Given the description of an element on the screen output the (x, y) to click on. 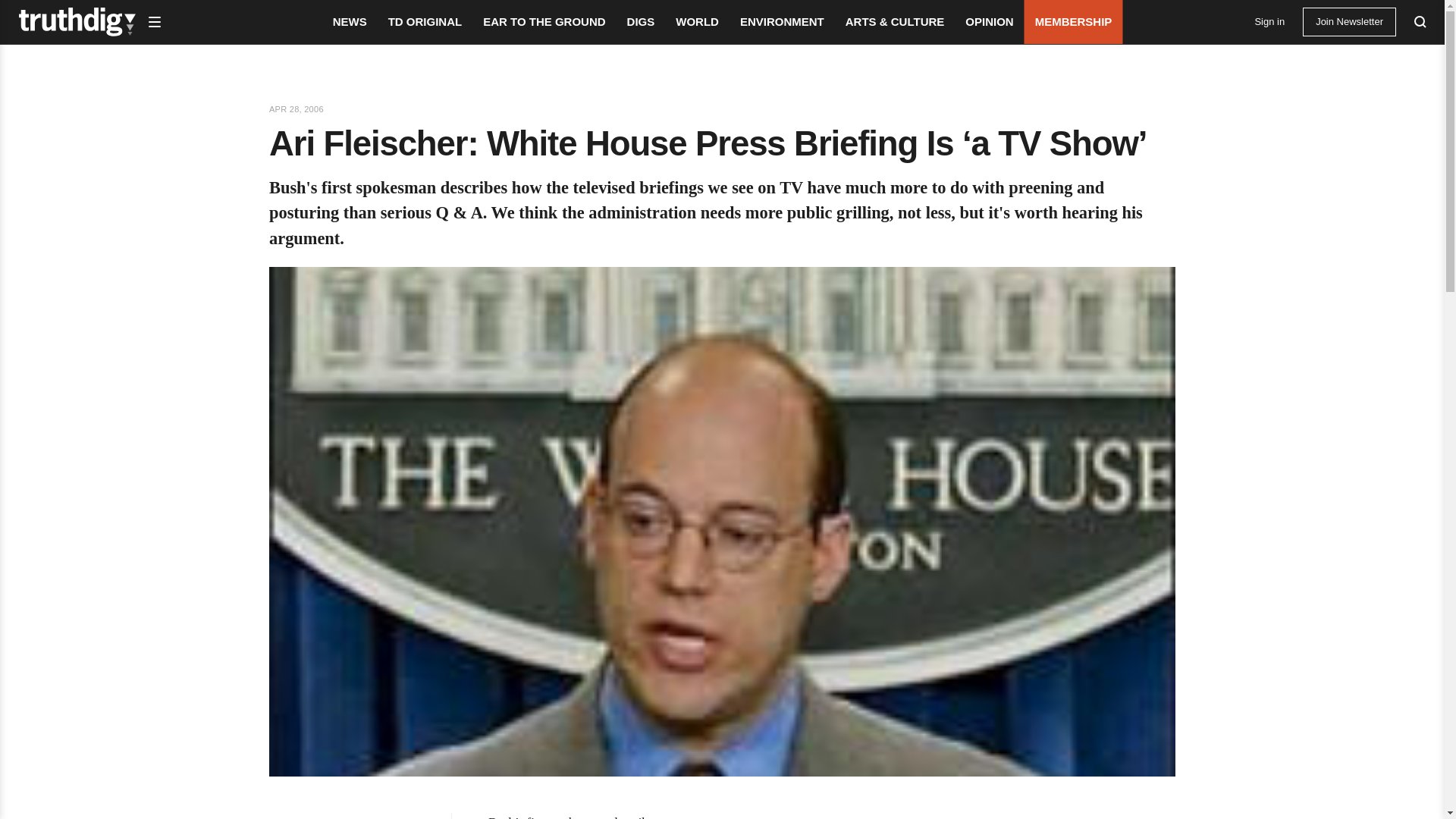
Bush's first spokesman describes (573, 816)
